Given the description of an element on the screen output the (x, y) to click on. 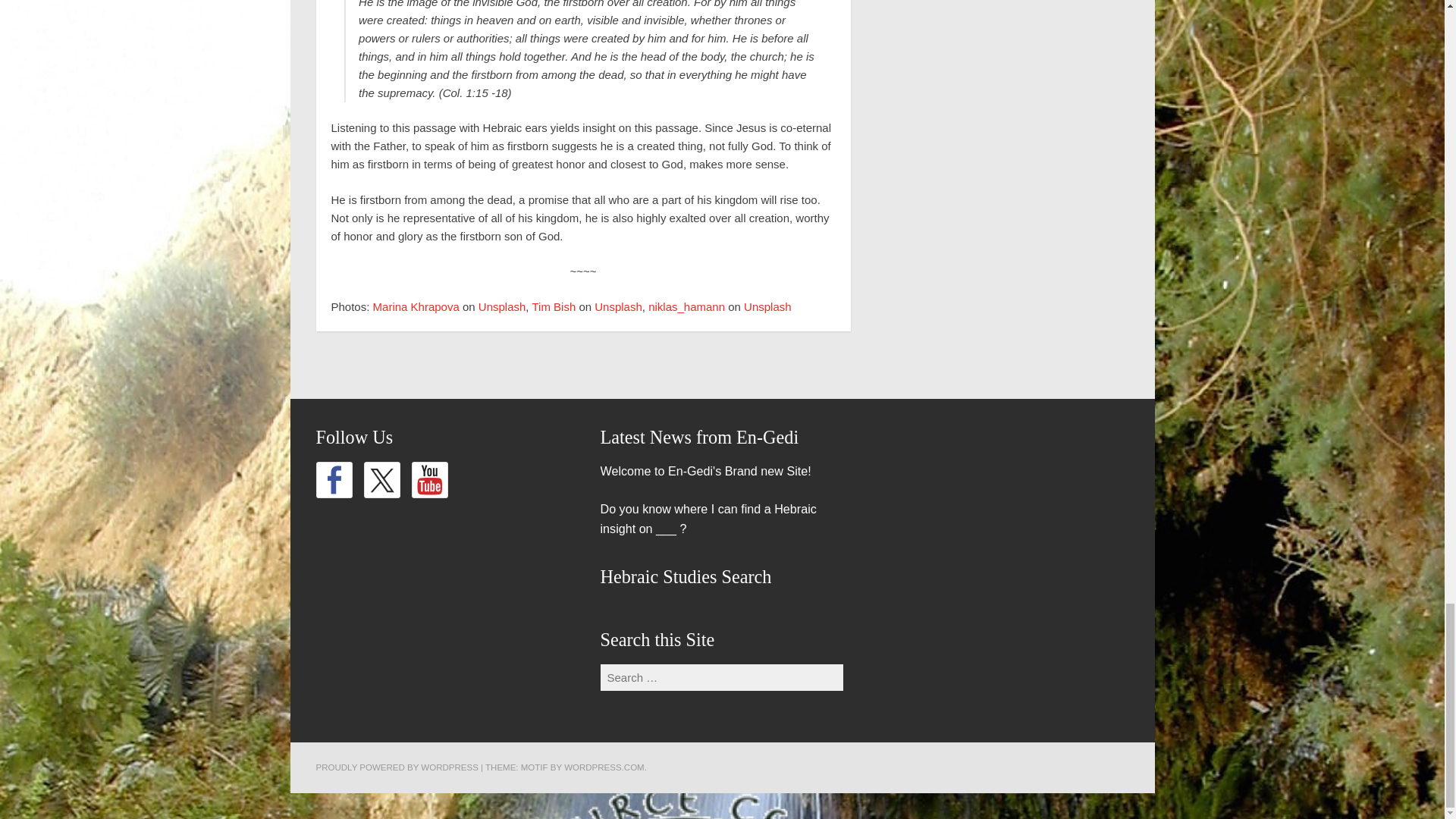
Marina Khrapova (416, 306)
Follow us on Twitter (382, 479)
Find us on YouTube (428, 479)
Follow us on Facebook (333, 479)
A Semantic Personal Publishing Platform (396, 767)
